Given the description of an element on the screen output the (x, y) to click on. 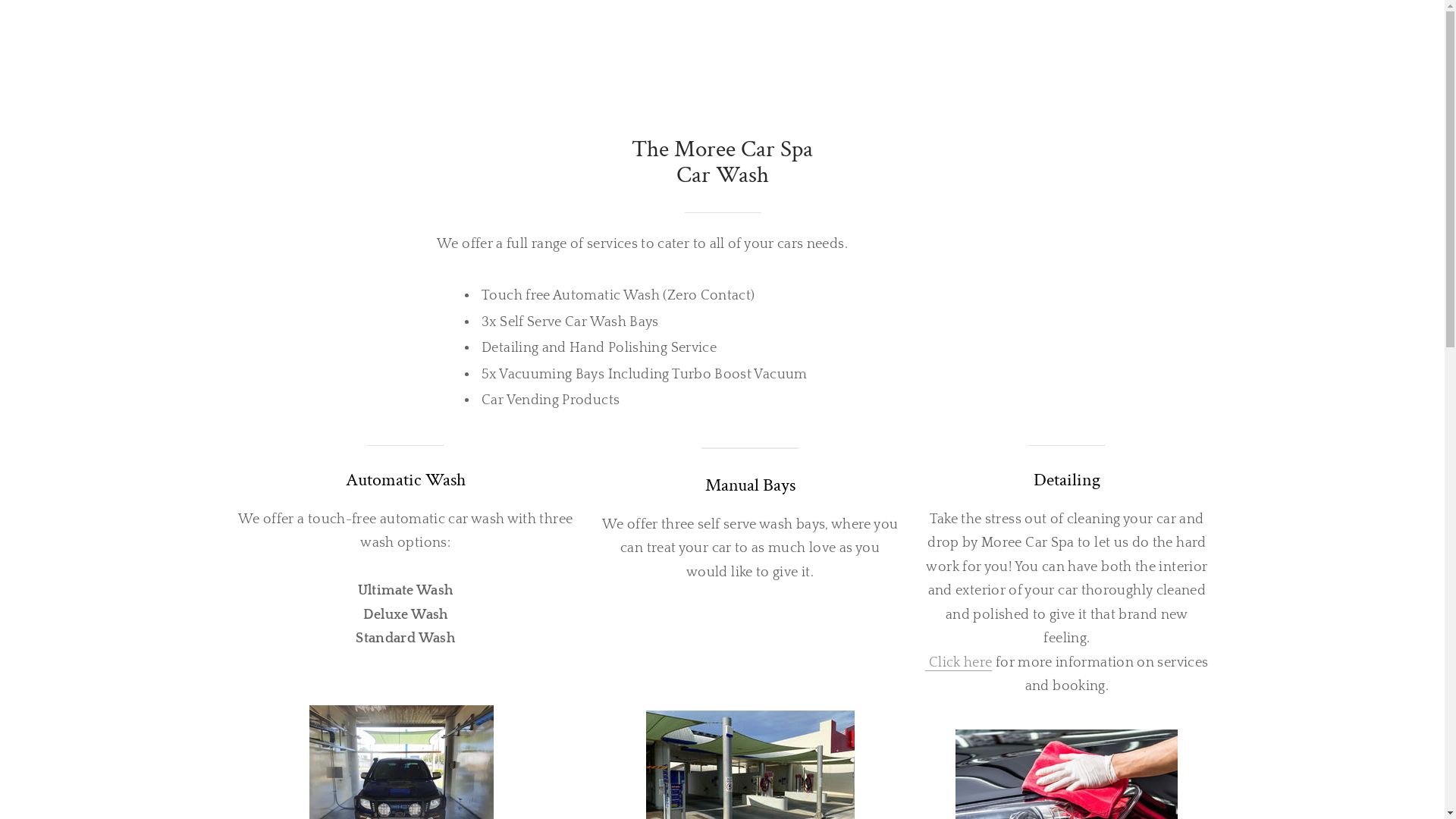
 Click here Element type: text (958, 663)
